Given the description of an element on the screen output the (x, y) to click on. 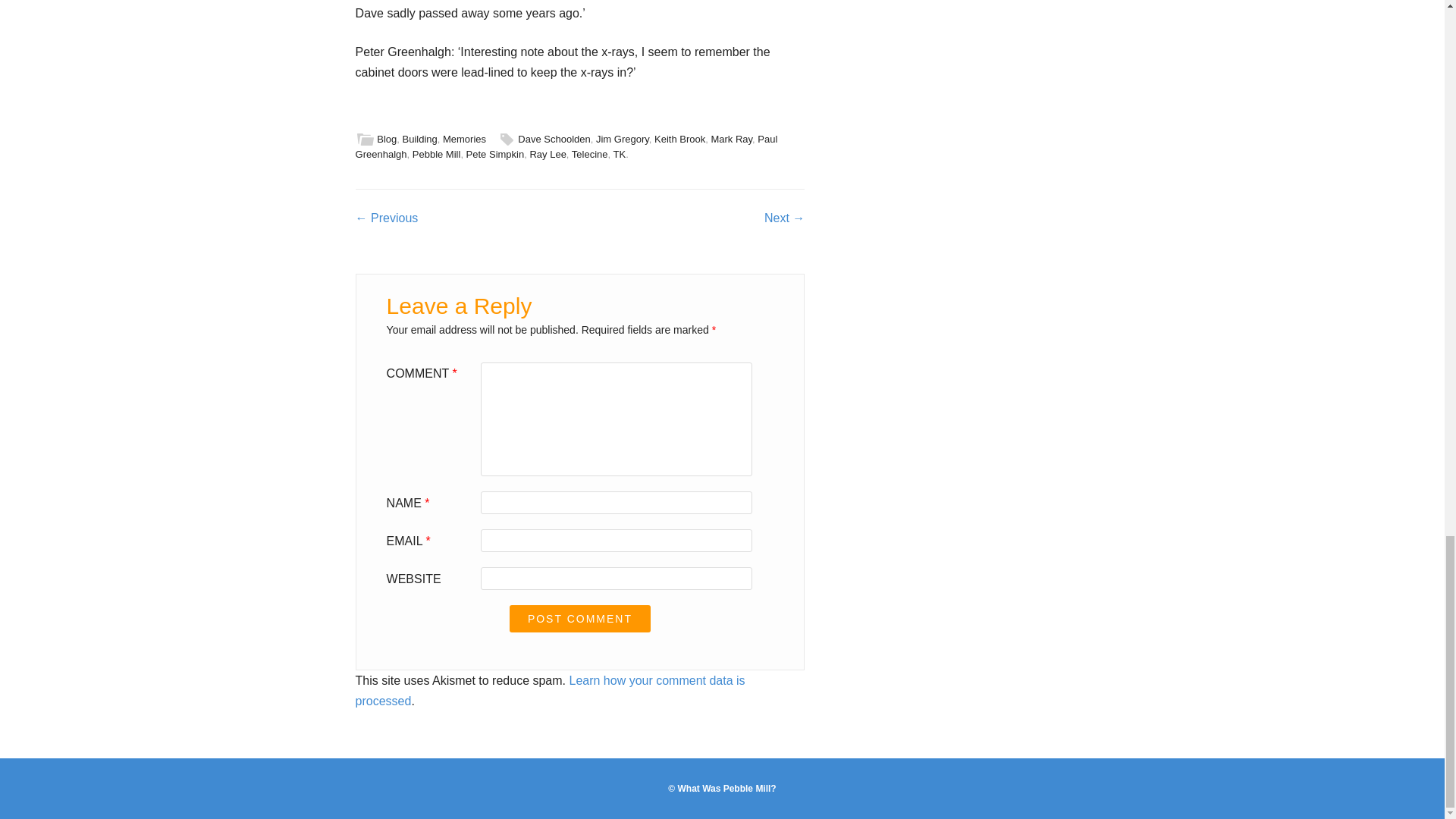
Building (418, 138)
Memories (464, 138)
Telecine (590, 153)
Pebble Mill (436, 153)
Blog (386, 138)
Post Comment (579, 618)
Pete Simpkin (494, 153)
Mark Ray (731, 138)
Learn how your comment data is processed (550, 690)
Post Comment (579, 618)
